Given the description of an element on the screen output the (x, y) to click on. 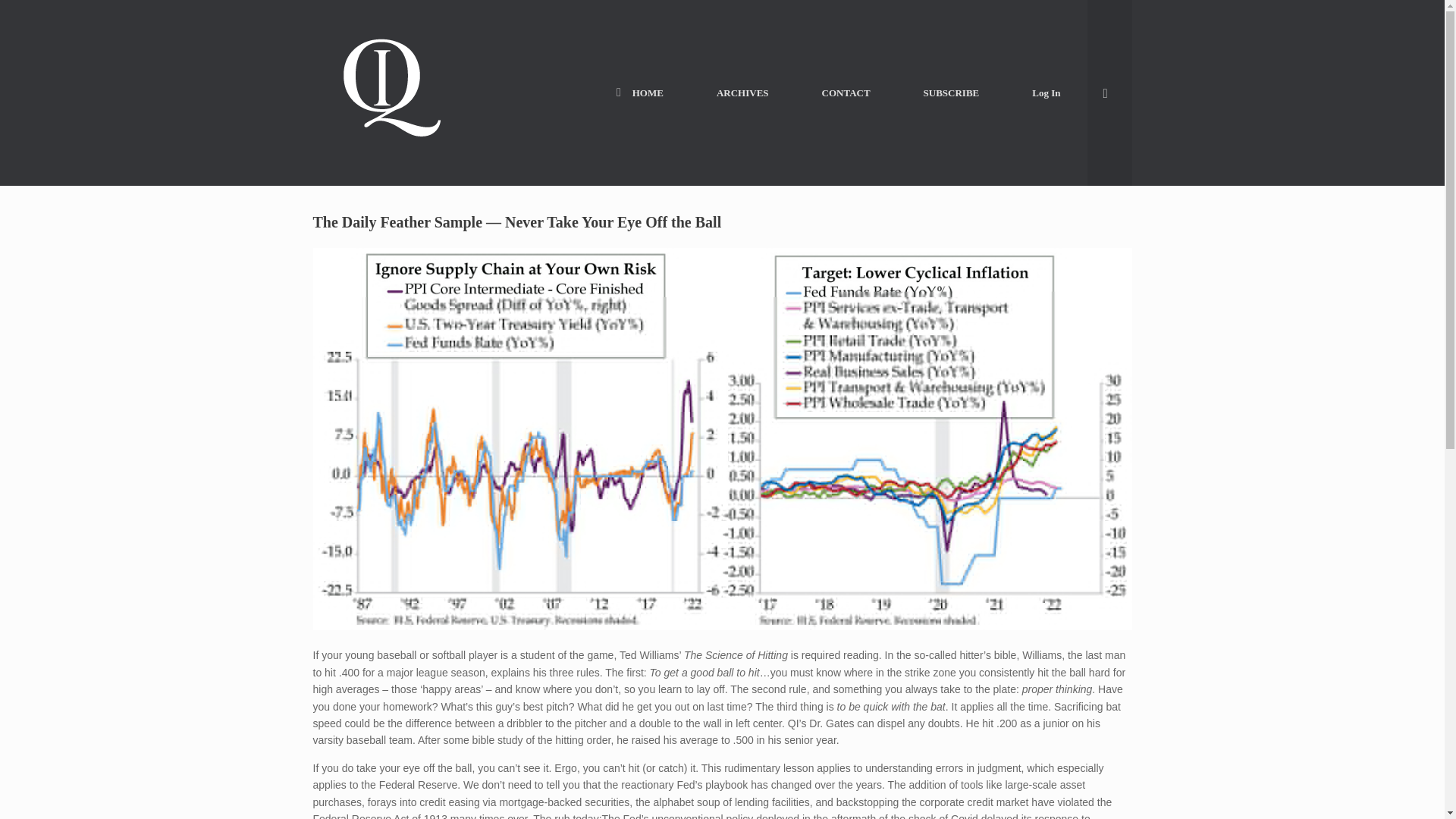
Log In (1046, 92)
CONTACT (845, 92)
SUBSCRIBE (951, 92)
ARCHIVES (742, 92)
HOME (639, 92)
